Given the description of an element on the screen output the (x, y) to click on. 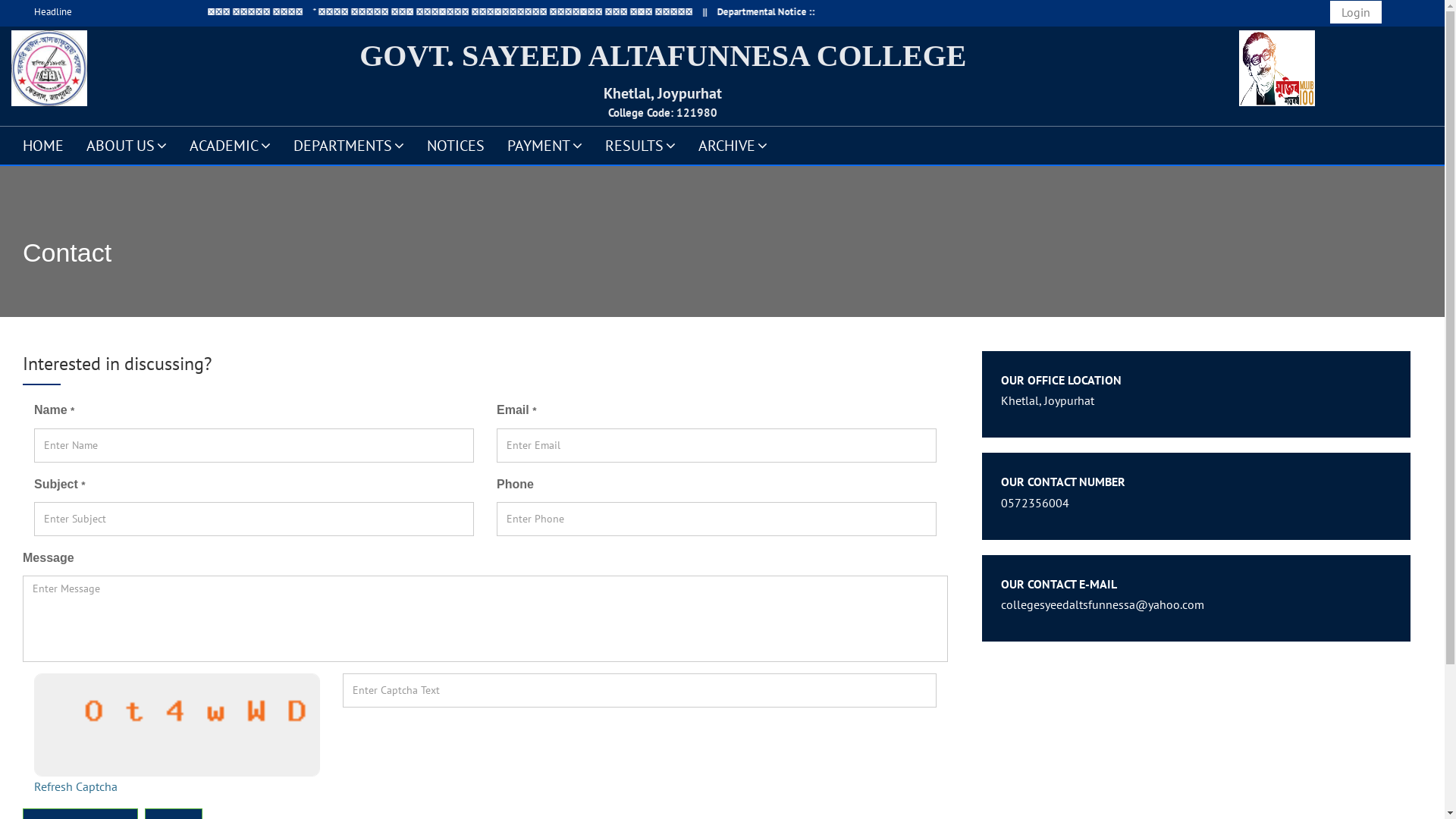
Refresh Captcha Element type: text (75, 785)
DEPARTMENTS Element type: text (348, 144)
HOME Element type: text (43, 144)
ACADEMIC Element type: text (230, 144)
ARCHIVE Element type: text (732, 144)
NOTICES Element type: text (455, 144)
PAYMENT Element type: text (544, 144)
ABOUT US Element type: text (126, 144)
RESULTS Element type: text (640, 144)
GOVT. SAYEED ALTAFUNNESA COLLEGE Element type: text (662, 55)
Login Element type: text (1355, 11)
